Given the description of an element on the screen output the (x, y) to click on. 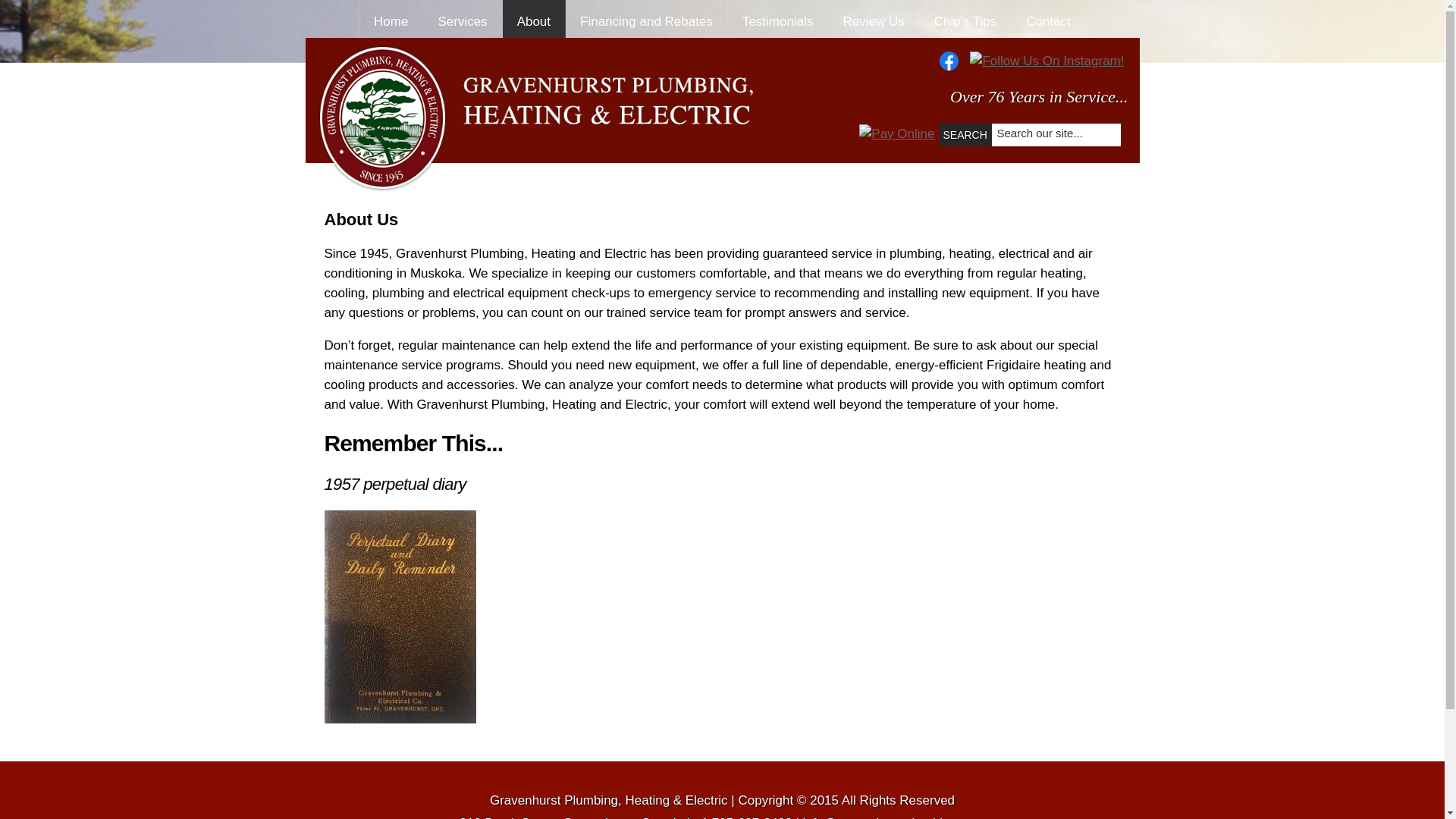
Home (390, 18)
Search our site... (1050, 132)
Search (965, 134)
Instagram (1046, 60)
Search (965, 134)
Make a Payment (896, 133)
Facebook (954, 60)
Services (461, 18)
Search our site... (1050, 132)
